Given the description of an element on the screen output the (x, y) to click on. 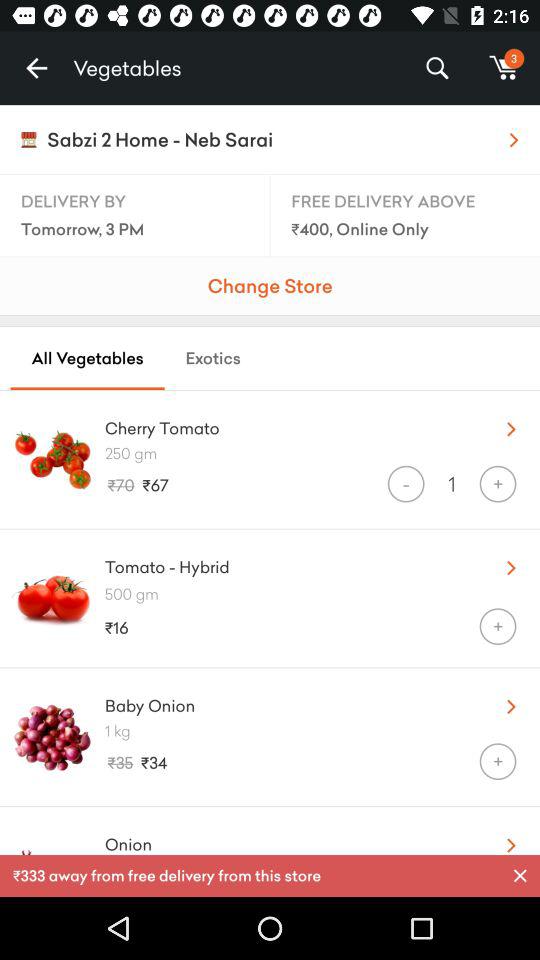
jump until 250 gm icon (322, 453)
